Given the description of an element on the screen output the (x, y) to click on. 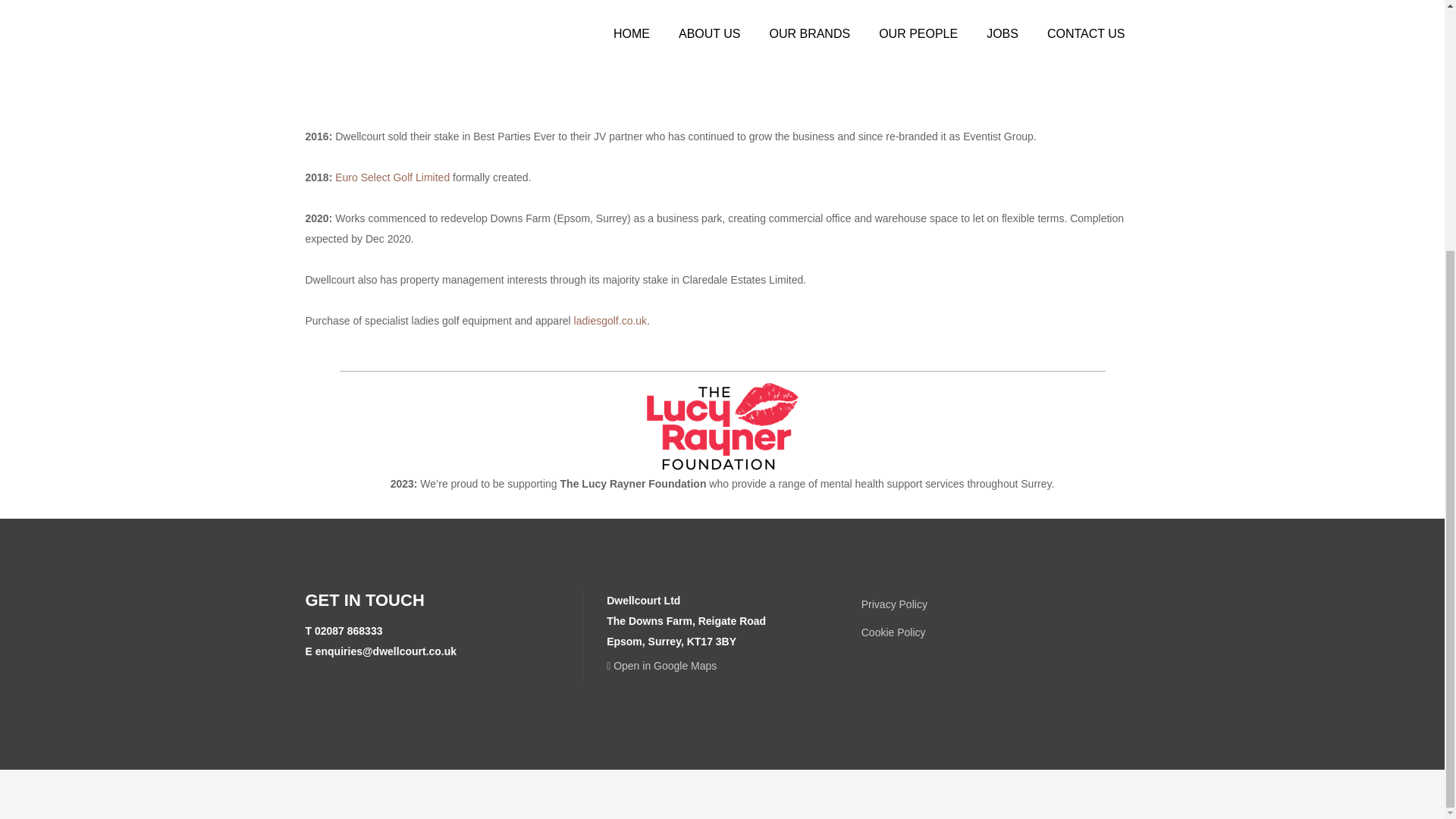
Open in Google Maps (661, 665)
European Salad (467, 13)
Opens in a new window (661, 665)
Euro Select Golf Limited (391, 177)
ladiesgolf.co.uk (610, 320)
Cookie Policy (893, 633)
Left Handed Golf (719, 84)
Privacy Policy (894, 604)
